Given the description of an element on the screen output the (x, y) to click on. 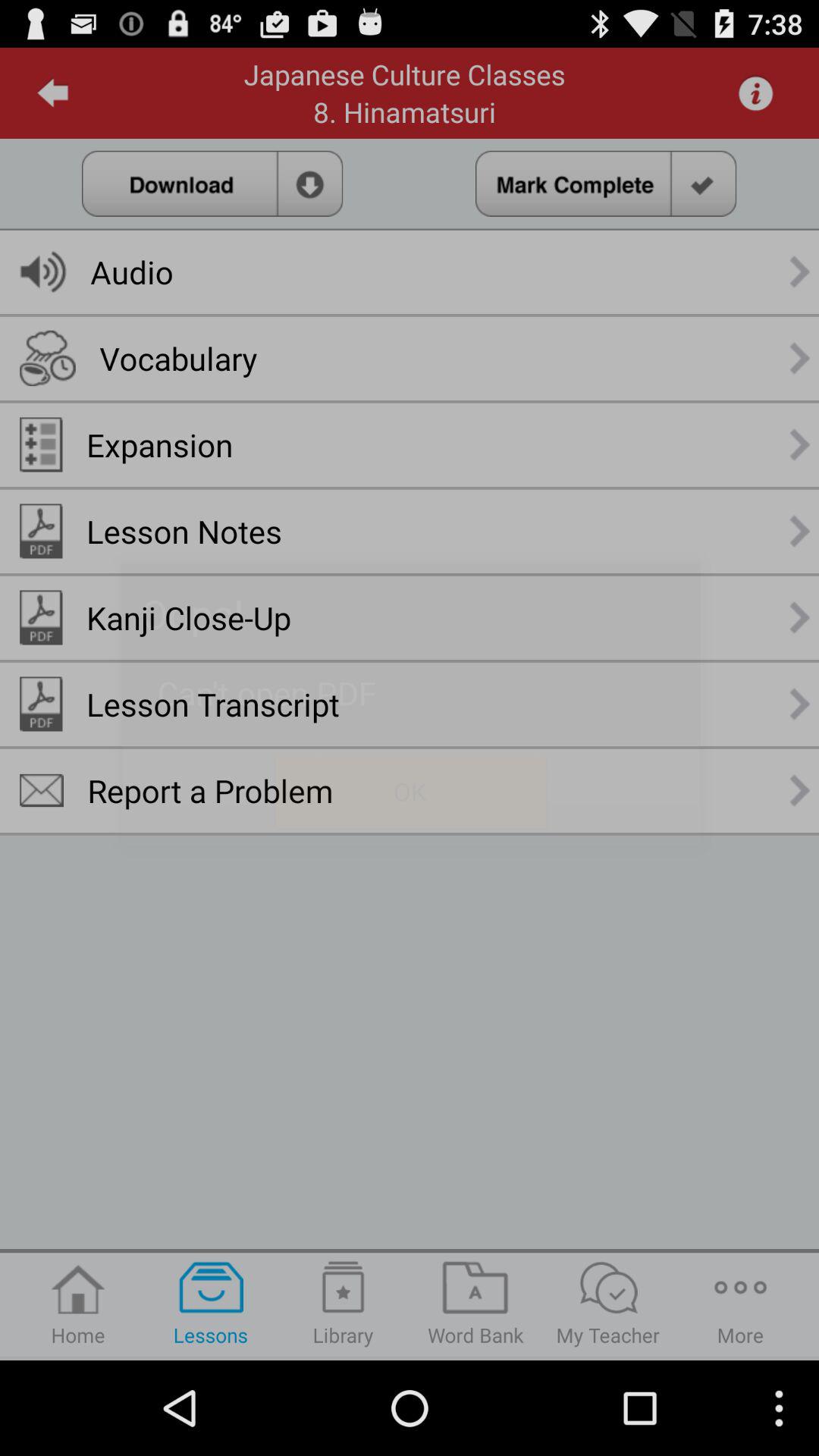
turn off the icon to the left of the japanese culture classes (53, 93)
